Given the description of an element on the screen output the (x, y) to click on. 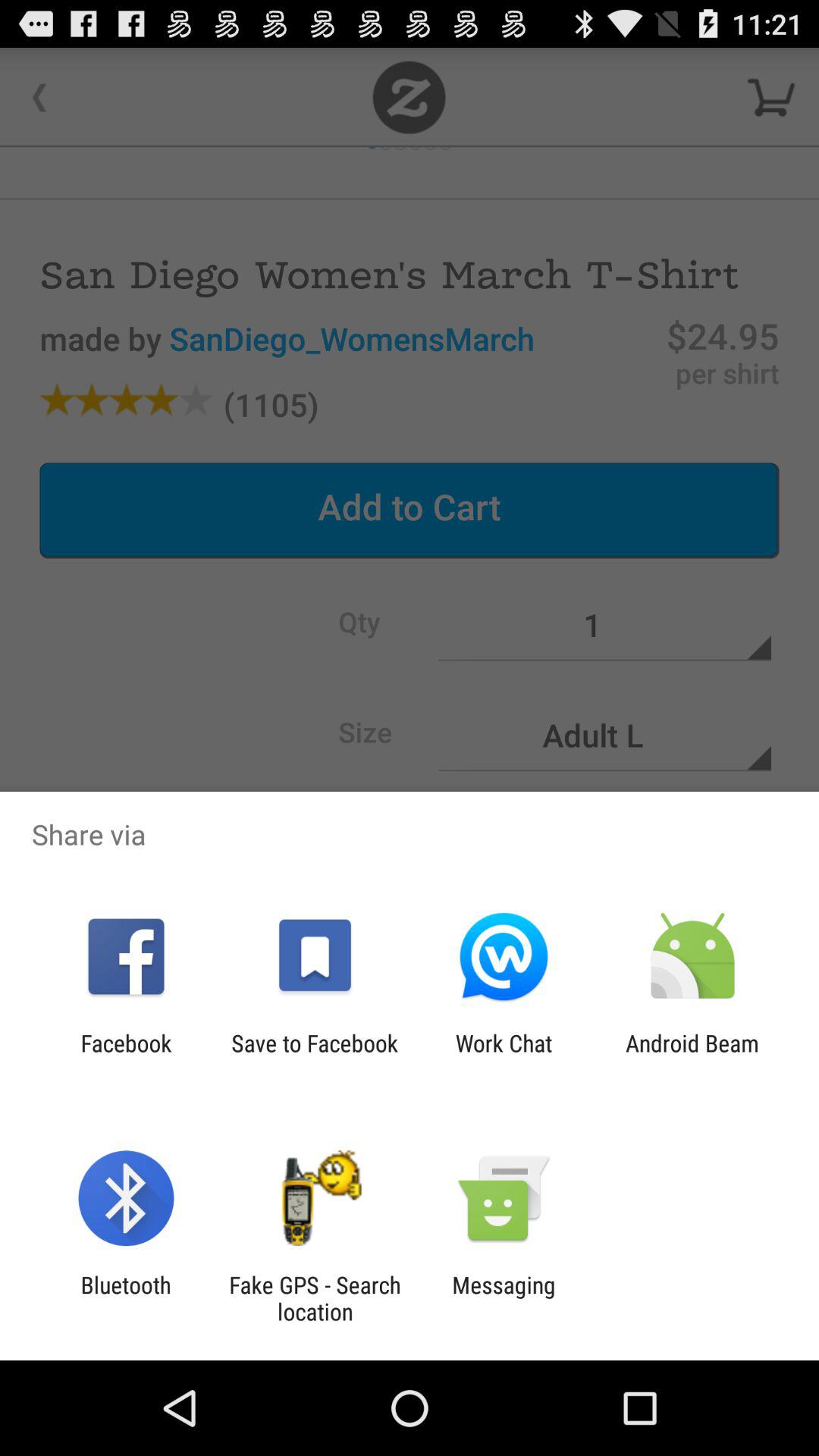
click messaging app (503, 1298)
